Given the description of an element on the screen output the (x, y) to click on. 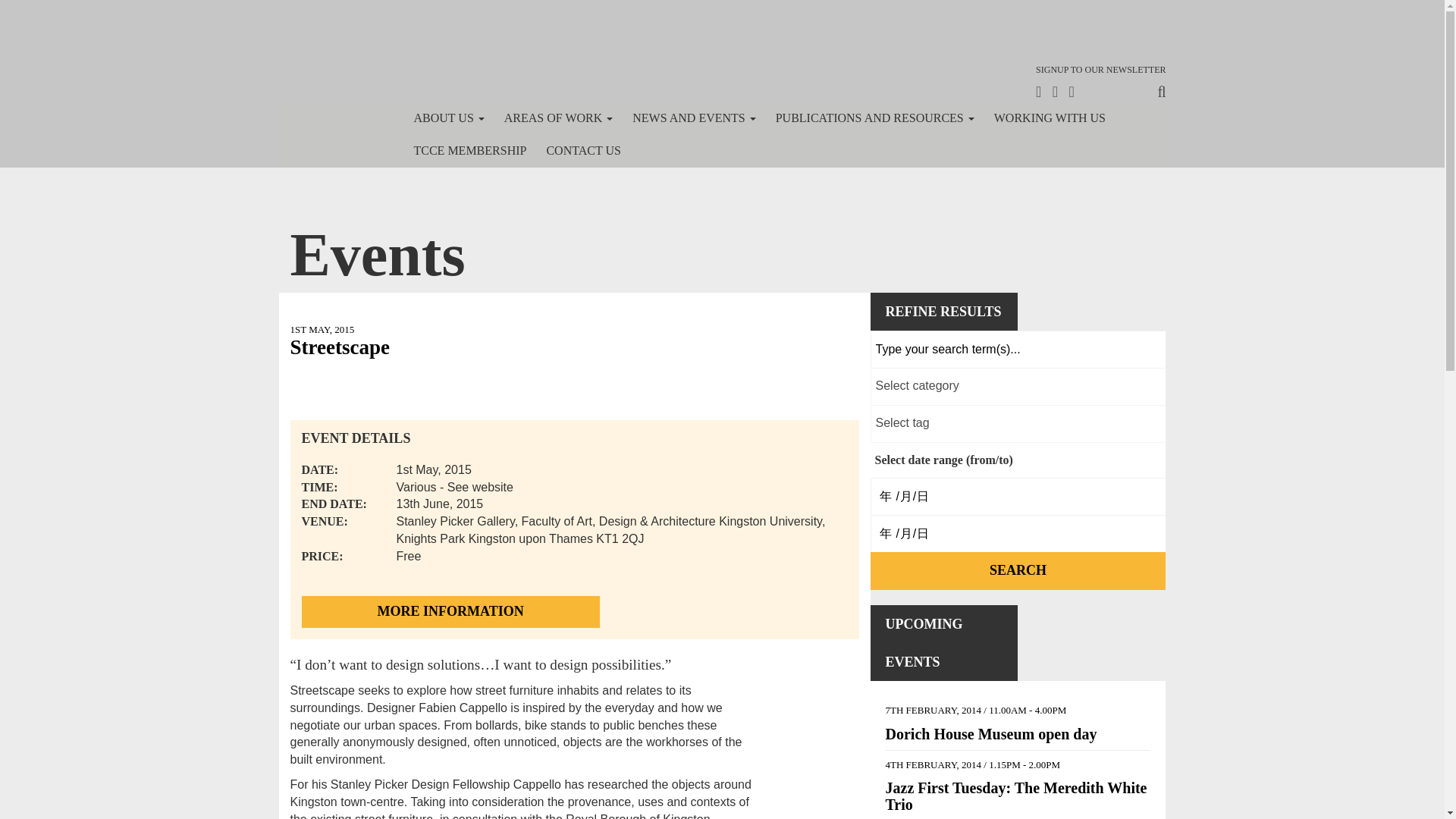
Search (1018, 570)
AREAS OF WORK (559, 118)
ABOUT US (448, 118)
The Culture Capital Exchange - Home (326, 62)
SIGNUP TO OUR NEWSLETTER (1100, 69)
